Given the description of an element on the screen output the (x, y) to click on. 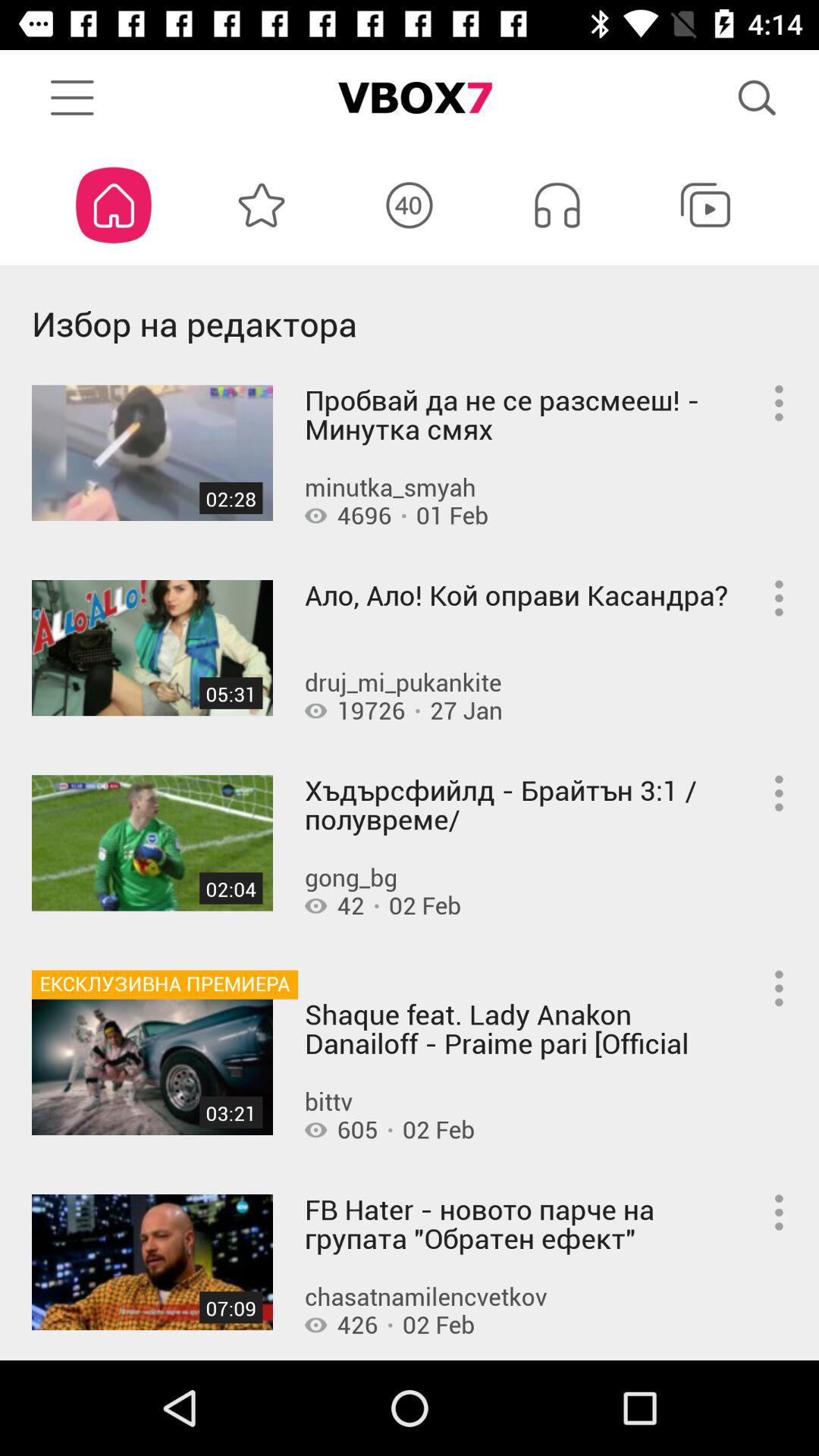
click on the thumbnail of fourth video (151, 1066)
click on the fourth menu button (778, 988)
click on the third video box showing 0204 seconds (151, 842)
click on the logo at center top of the page (409, 97)
click on the music symbol icon (557, 204)
